Given the description of an element on the screen output the (x, y) to click on. 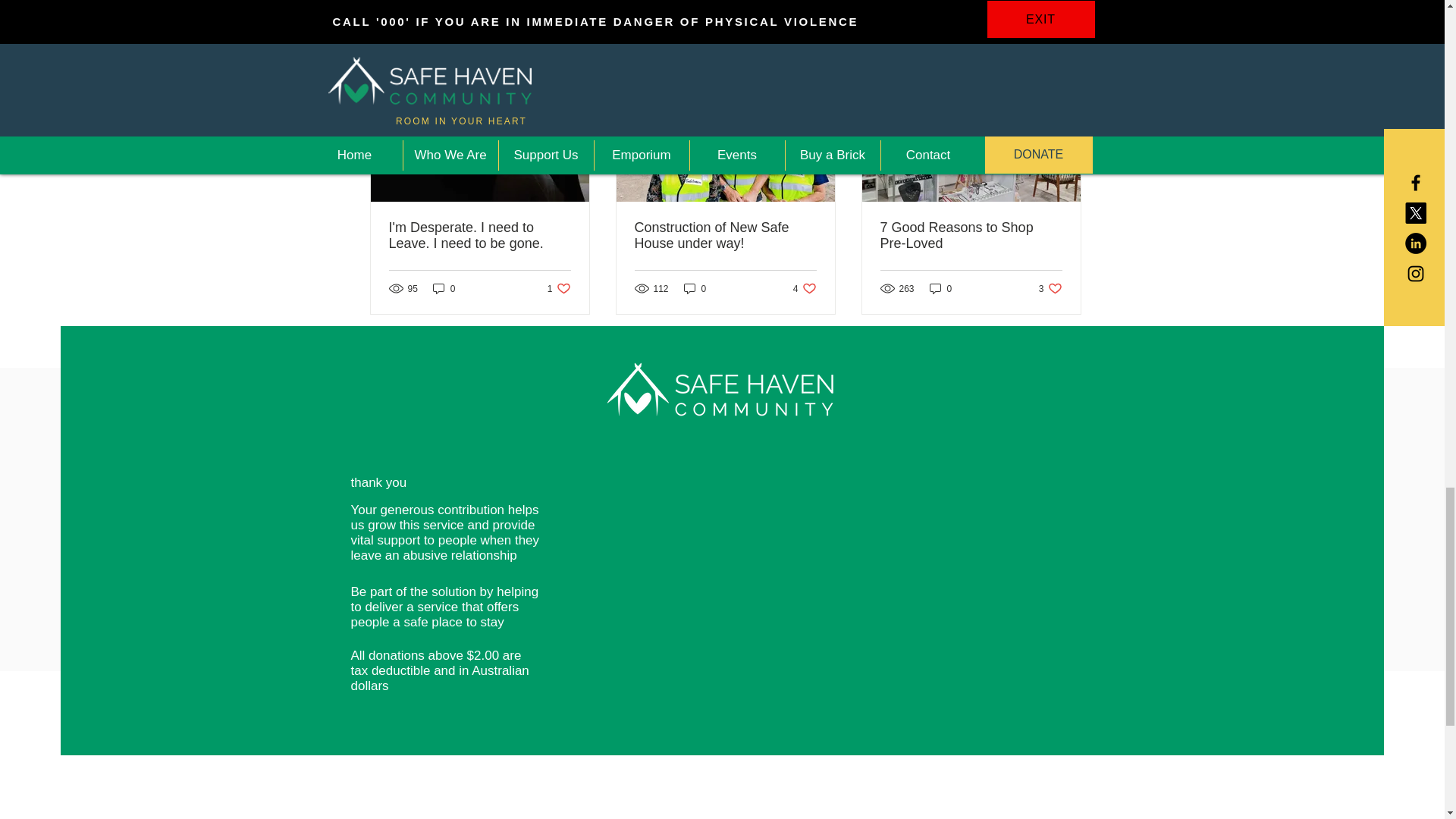
0 (558, 288)
0 (804, 288)
I'm Desperate. I need to Leave. I need to be gone. (694, 288)
Construction of New Safe House under way! (443, 288)
See All (479, 235)
